Given the description of an element on the screen output the (x, y) to click on. 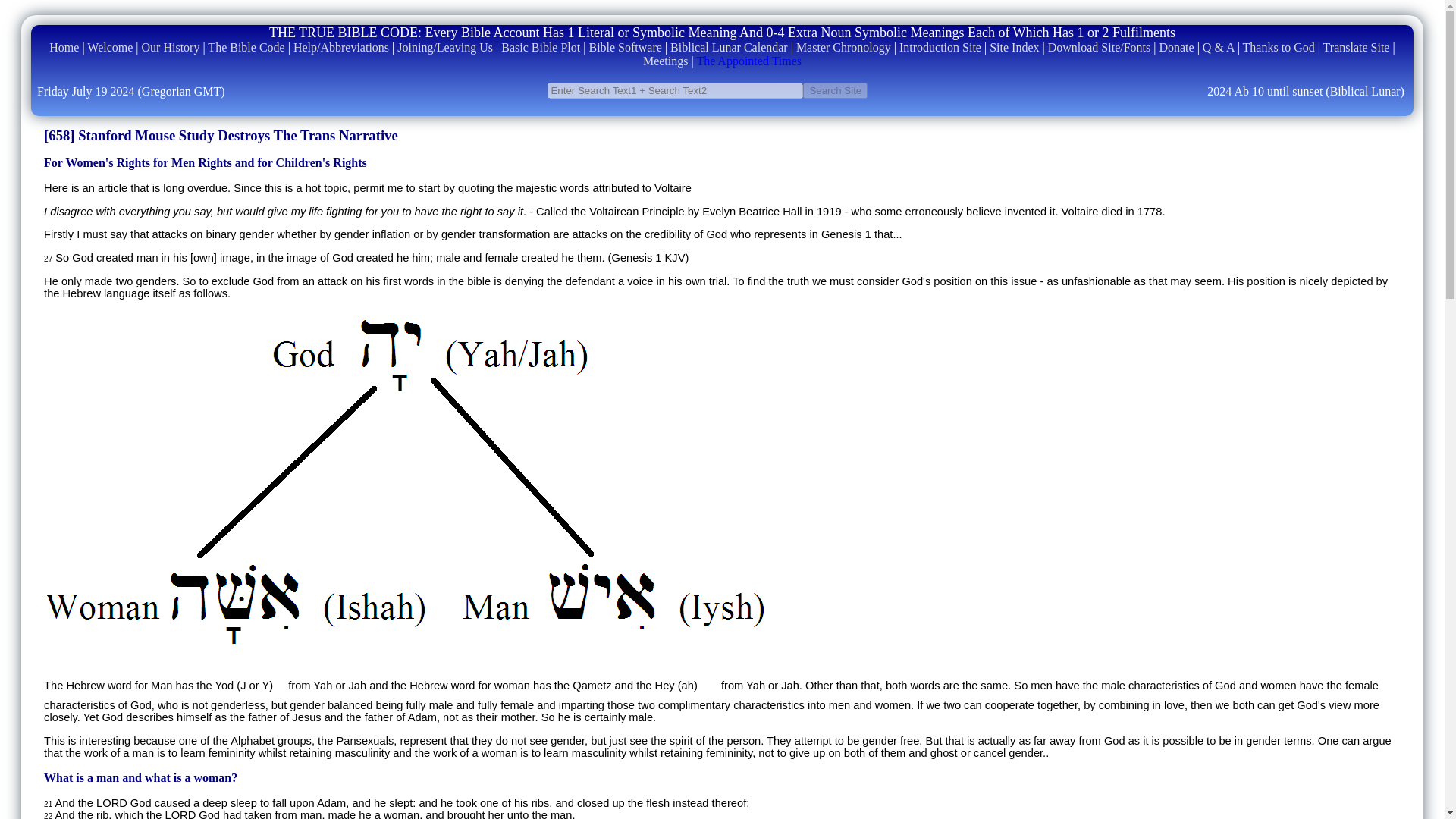
Search Site (835, 90)
Home (63, 47)
Master Chronology (843, 47)
Welcome (109, 47)
The Appointed Times (748, 60)
Biblical Lunar Calendar (728, 47)
Basic Bible Plot (539, 47)
Introduction Site (940, 47)
Bible Software (624, 47)
The Bible Code (245, 47)
Donate (1175, 47)
Meetings (665, 60)
Translate Site (1356, 47)
Our History (170, 47)
Site Index (1014, 47)
